Given the description of an element on the screen output the (x, y) to click on. 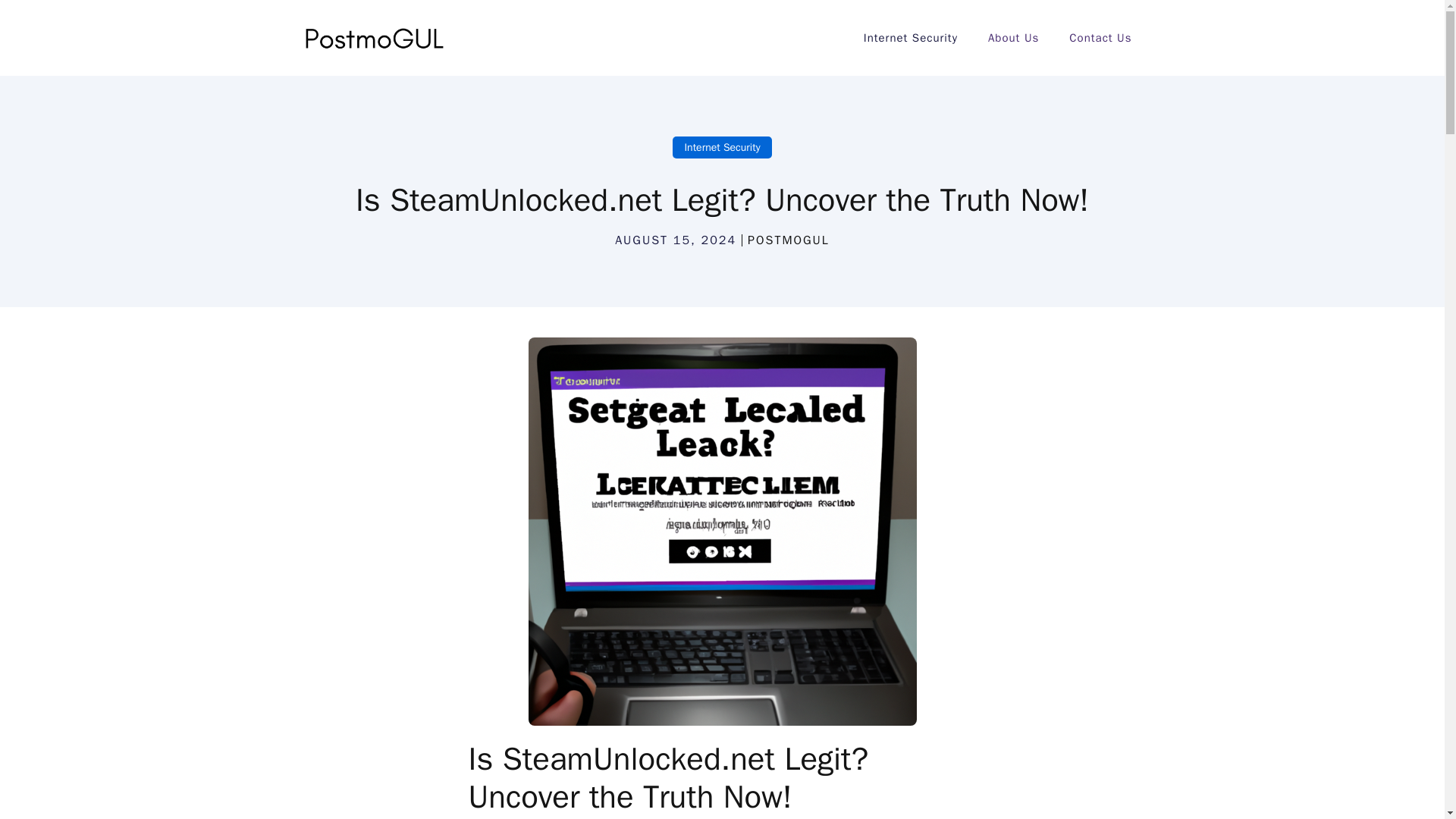
POSTMOGUL (788, 240)
About Us (1013, 37)
Contact Us (1100, 37)
Internet Security (910, 37)
Internet Security (721, 147)
